Given the description of an element on the screen output the (x, y) to click on. 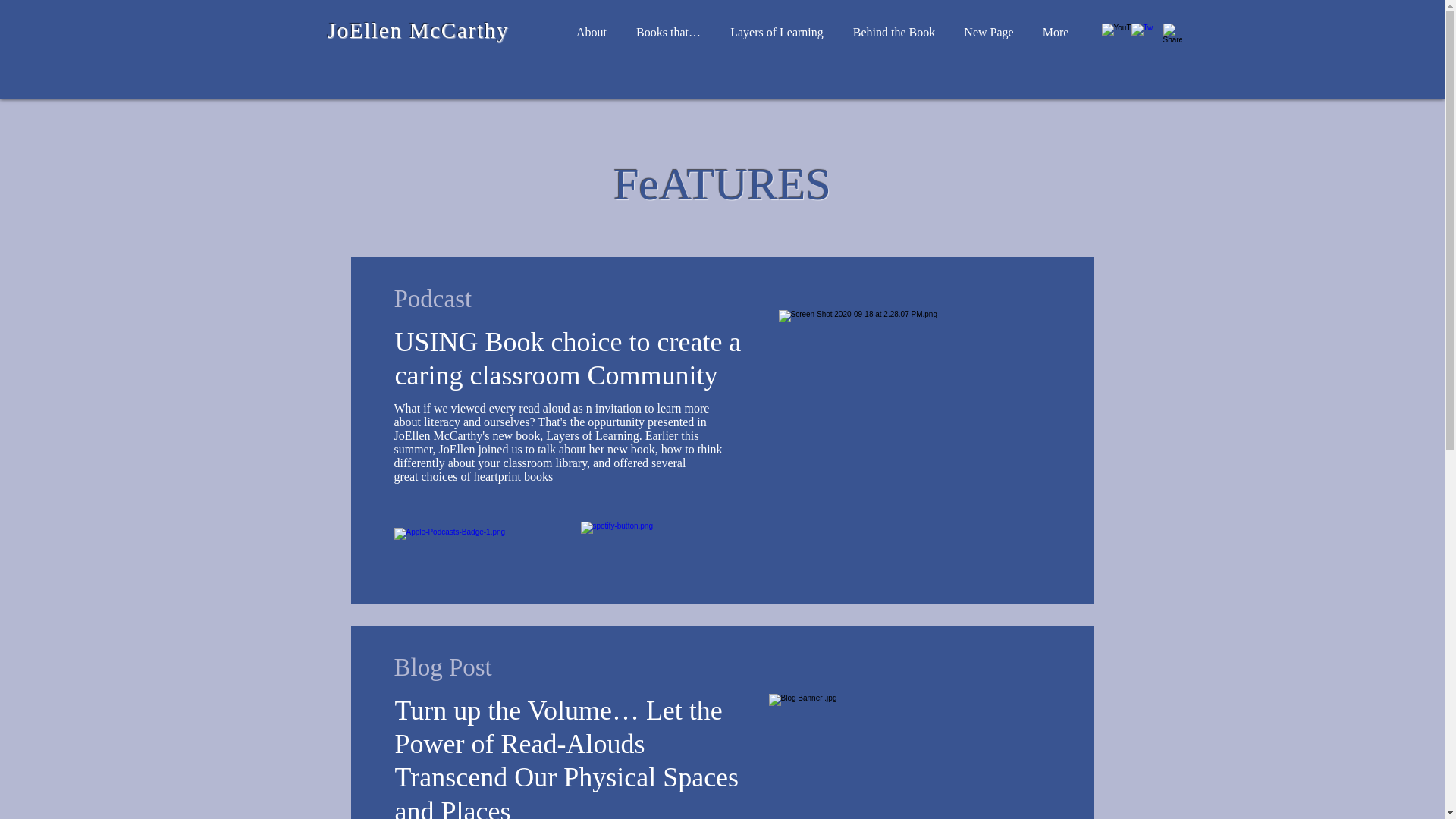
Layers of Learning (777, 32)
Behind the Book (894, 32)
Share with a Friend! (1172, 32)
New Page (988, 32)
JoEllen McCarthy (418, 30)
About (590, 32)
